Given the description of an element on the screen output the (x, y) to click on. 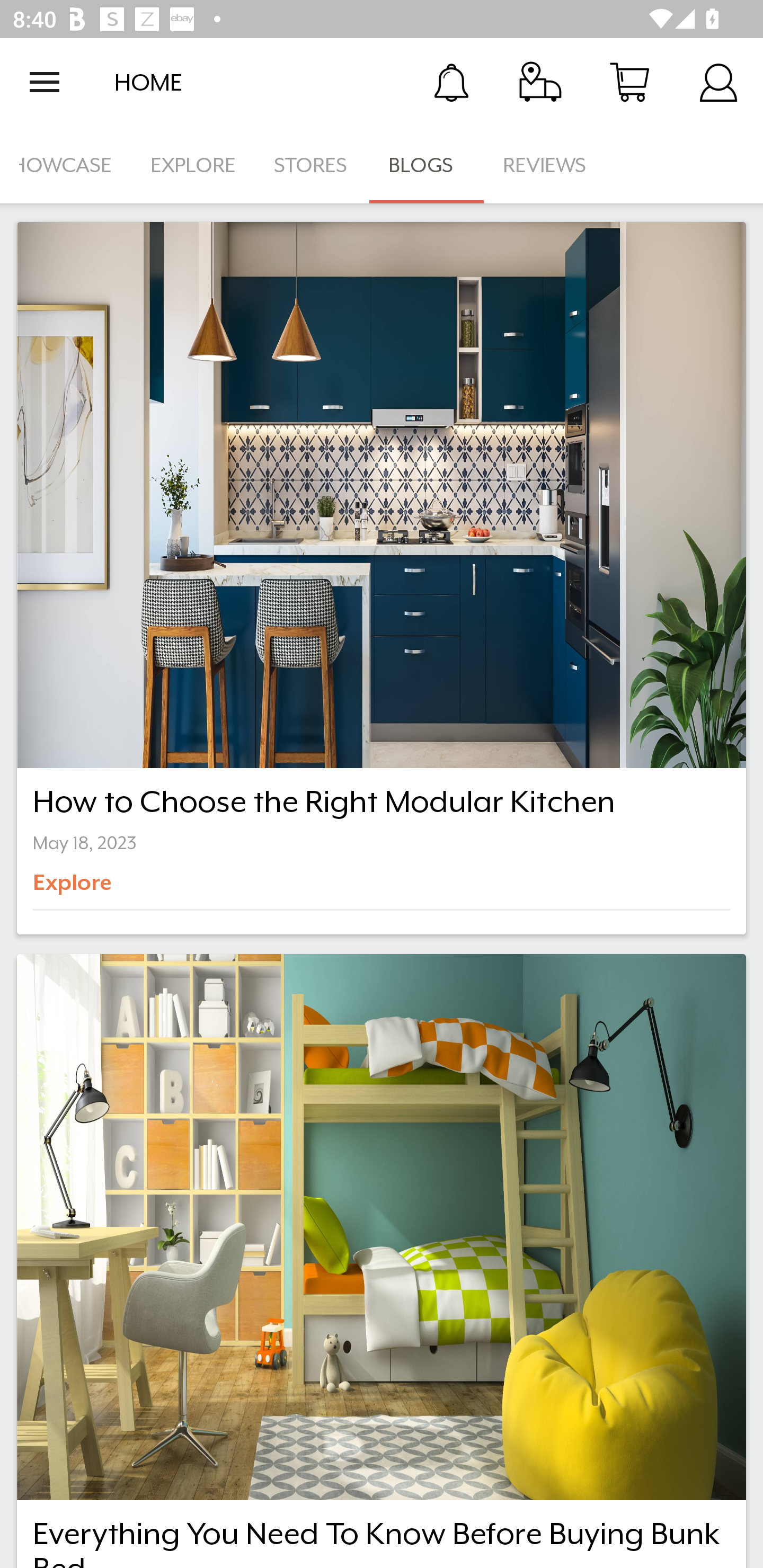
Open navigation drawer (44, 82)
Notification (450, 81)
Track Order (540, 81)
Cart (629, 81)
Account Details (718, 81)
SHOWCASE (65, 165)
EXPLORE (192, 165)
STORES (311, 165)
BLOGS (426, 165)
REVIEWS (544, 165)
Explore (102, 888)
Everything You Need To Know Before Buying Bunk Bed (381, 1260)
